Given the description of an element on the screen output the (x, y) to click on. 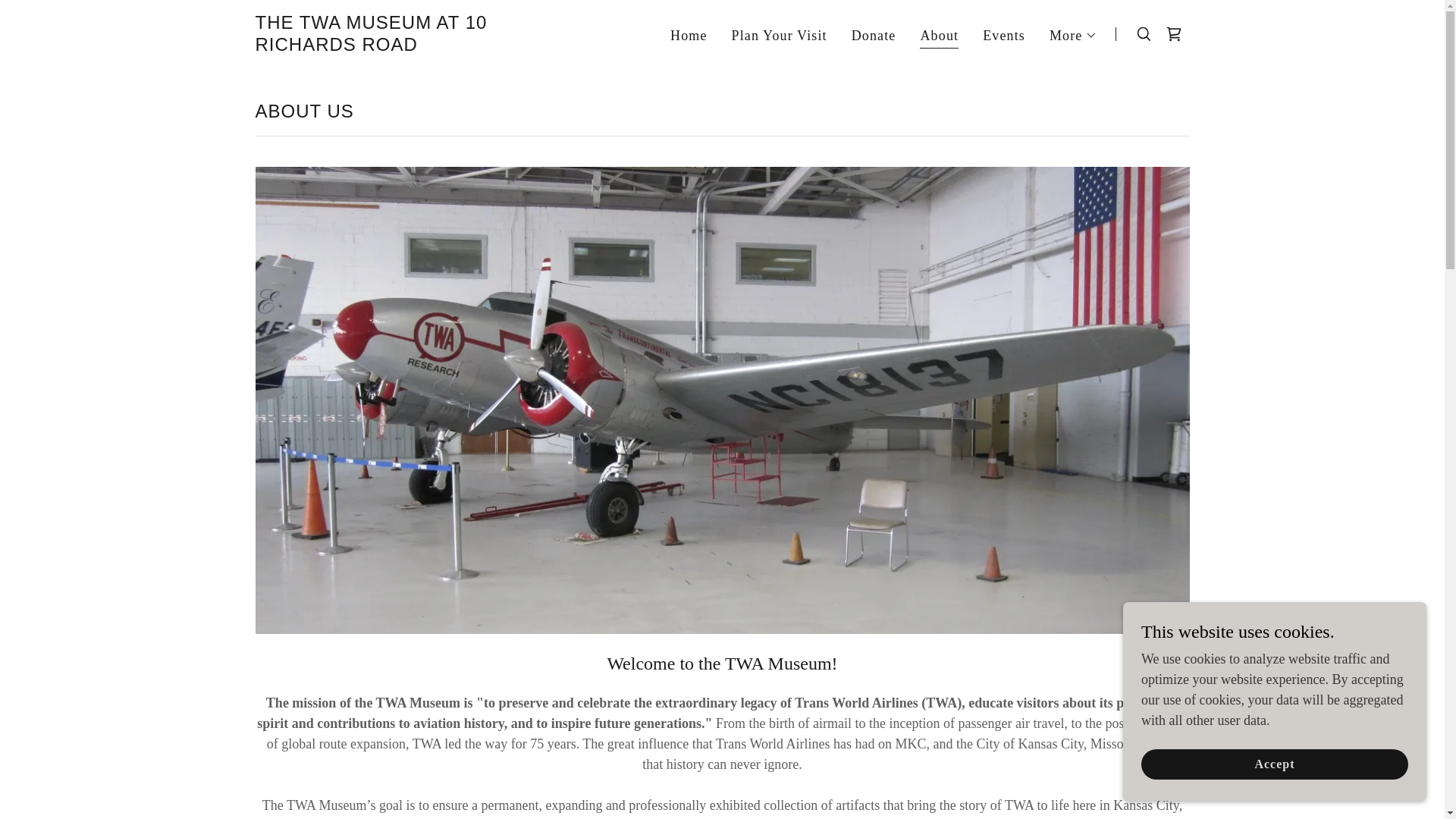
Home (688, 35)
More (1073, 35)
Events (1003, 35)
THE TWA MUSEUM AT 10 RICHARDS ROAD (417, 46)
Donate (874, 35)
The TWA Museum at 10 Richards Road (417, 46)
Plan Your Visit (778, 35)
About (939, 37)
